Given the description of an element on the screen output the (x, y) to click on. 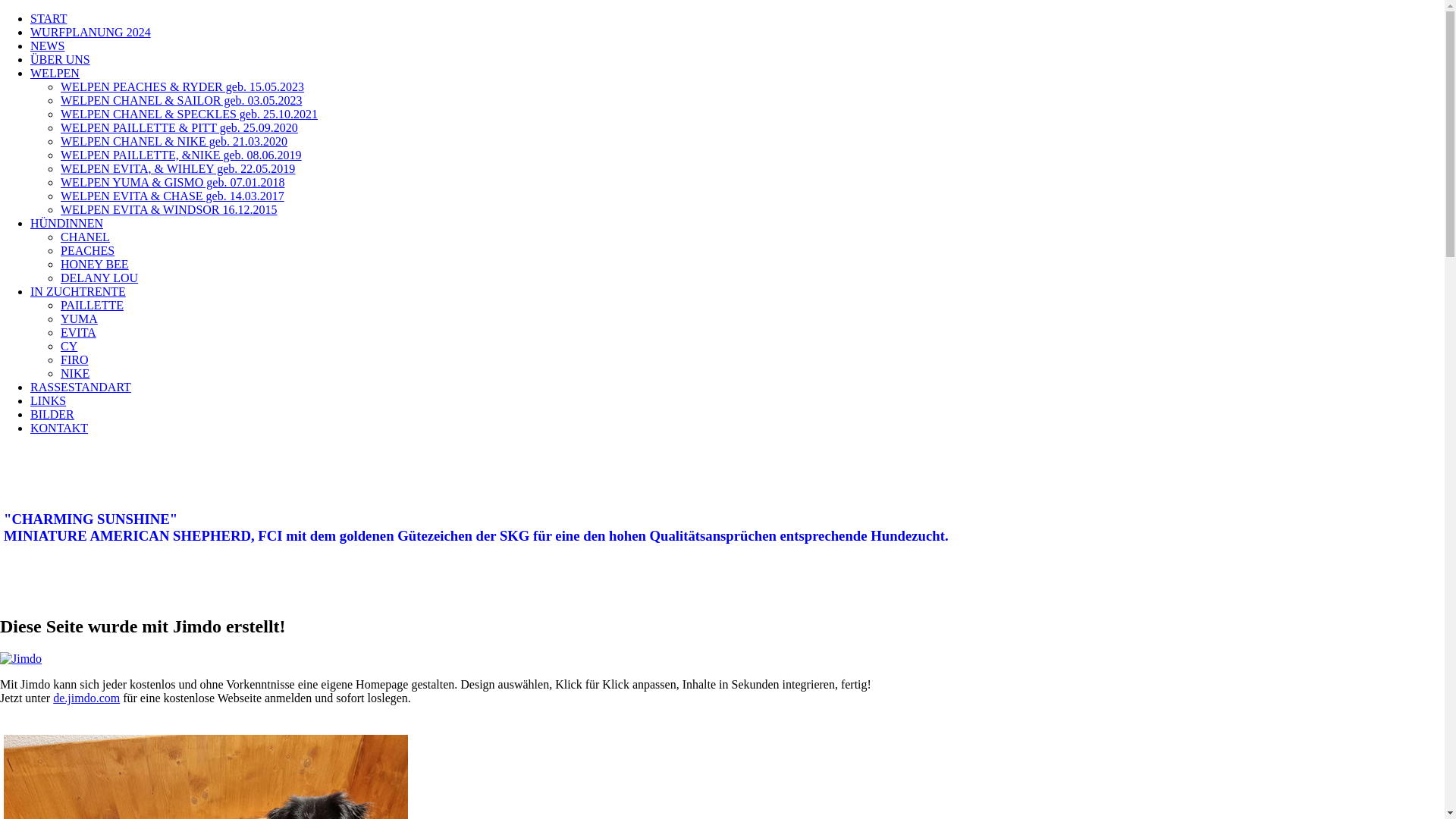
WELPEN CHANEL & SPECKLES geb. 25.10.2021 Element type: text (188, 113)
RASSESTANDART Element type: text (80, 386)
NEWS Element type: text (47, 45)
START Element type: text (48, 18)
EVITA Element type: text (78, 332)
WELPEN CHANEL & NIKE geb. 21.03.2020 Element type: text (173, 140)
de.jimdo.com Element type: text (86, 697)
CHANEL Element type: text (84, 236)
PEACHES Element type: text (87, 250)
DELANY LOU Element type: text (99, 277)
LINKS Element type: text (47, 400)
PAILLETTE Element type: text (91, 304)
WELPEN CHANEL & SAILOR geb. 03.05.2023 Element type: text (181, 100)
KONTAKT Element type: text (58, 427)
CY Element type: text (68, 345)
WELPEN EVITA & CHASE geb. 14.03.2017 Element type: text (172, 195)
HONEY BEE Element type: text (94, 263)
BILDER Element type: text (52, 413)
WELPEN EVITA & WINDSOR 16.12.2015 Element type: text (168, 209)
YUMA Element type: text (78, 318)
WELPEN PEACHES & RYDER geb. 15.05.2023 Element type: text (182, 86)
WELPEN PAILLETTE, &NIKE geb. 08.06.2019 Element type: text (180, 154)
WELPEN EVITA, & WIHLEY geb. 22.05.2019 Element type: text (177, 168)
Jimdo Element type: hover (20, 658)
IN ZUCHTRENTE Element type: text (77, 291)
WELPEN YUMA & GISMO geb. 07.01.2018 Element type: text (172, 181)
WELPEN Element type: text (54, 72)
WELPEN PAILLETTE & PITT geb. 25.09.2020 Element type: text (179, 127)
NIKE Element type: text (74, 373)
FIRO Element type: text (73, 359)
WURFPLANUNG 2024 Element type: text (90, 31)
